Given the description of an element on the screen output the (x, y) to click on. 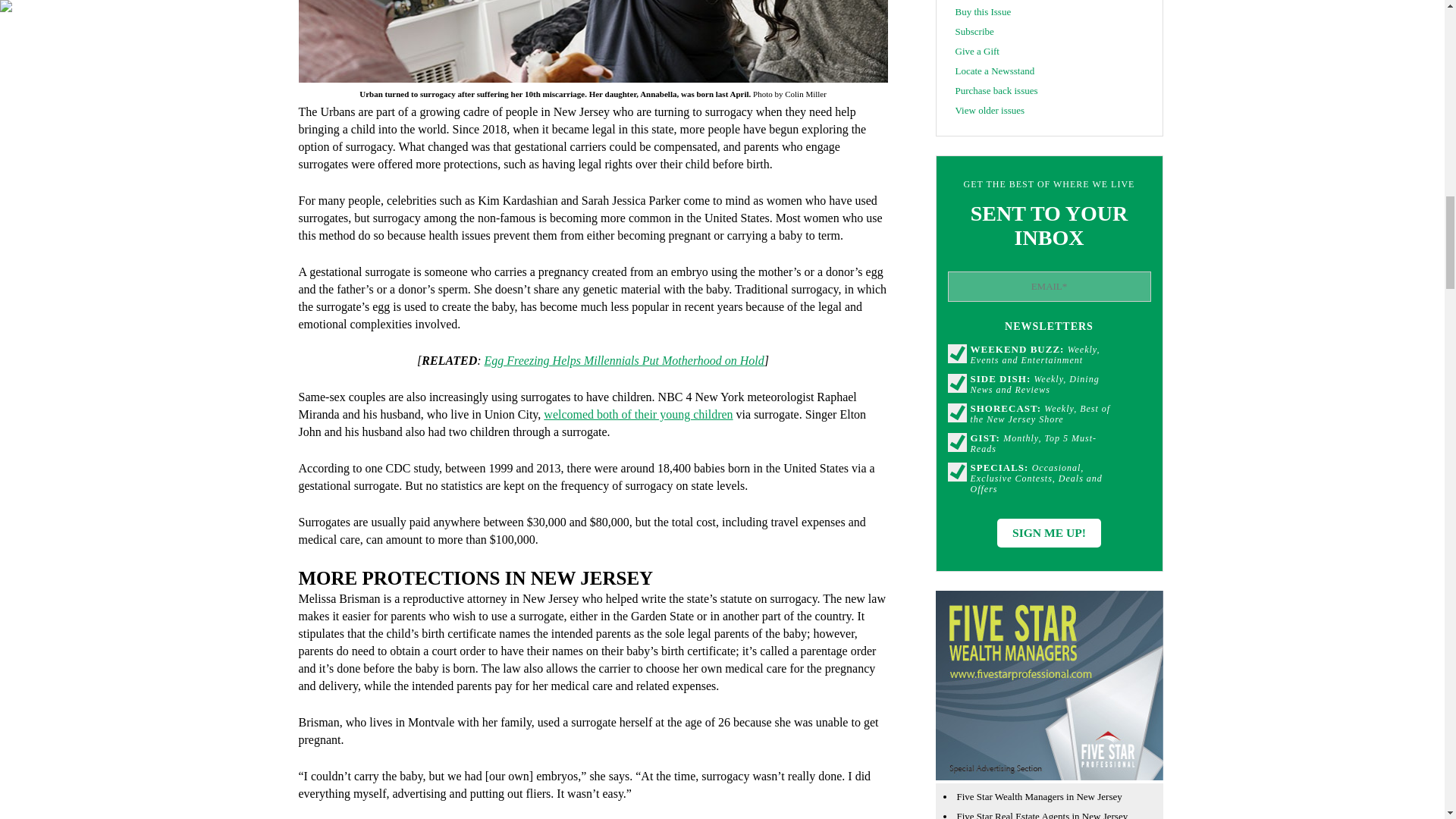
Sign Me Up! (1048, 532)
